Given the description of an element on the screen output the (x, y) to click on. 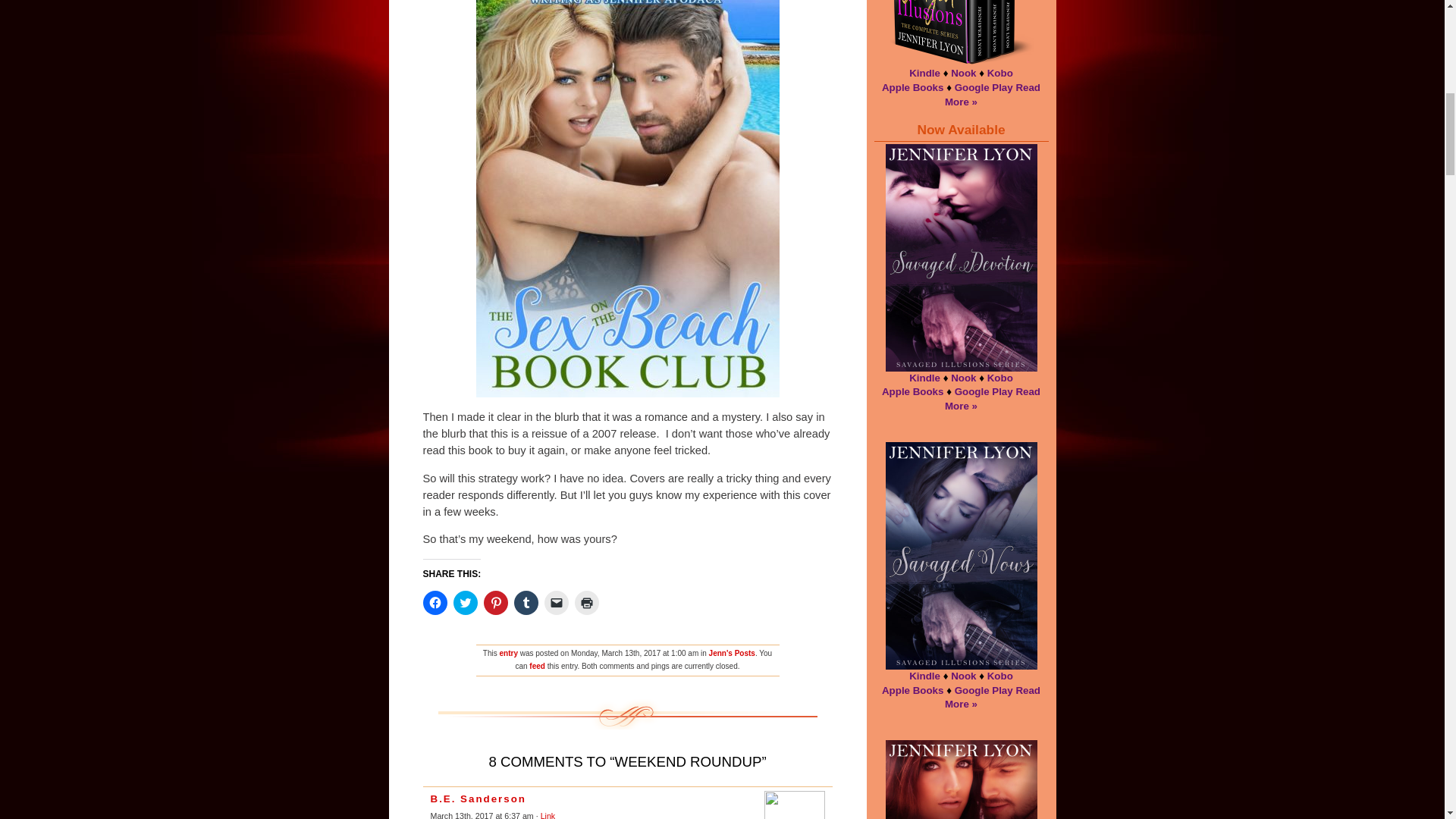
Link (548, 815)
B.E. Sanderson (478, 798)
feed (536, 665)
Jenn's Posts (732, 653)
entry (507, 653)
